Given the description of an element on the screen output the (x, y) to click on. 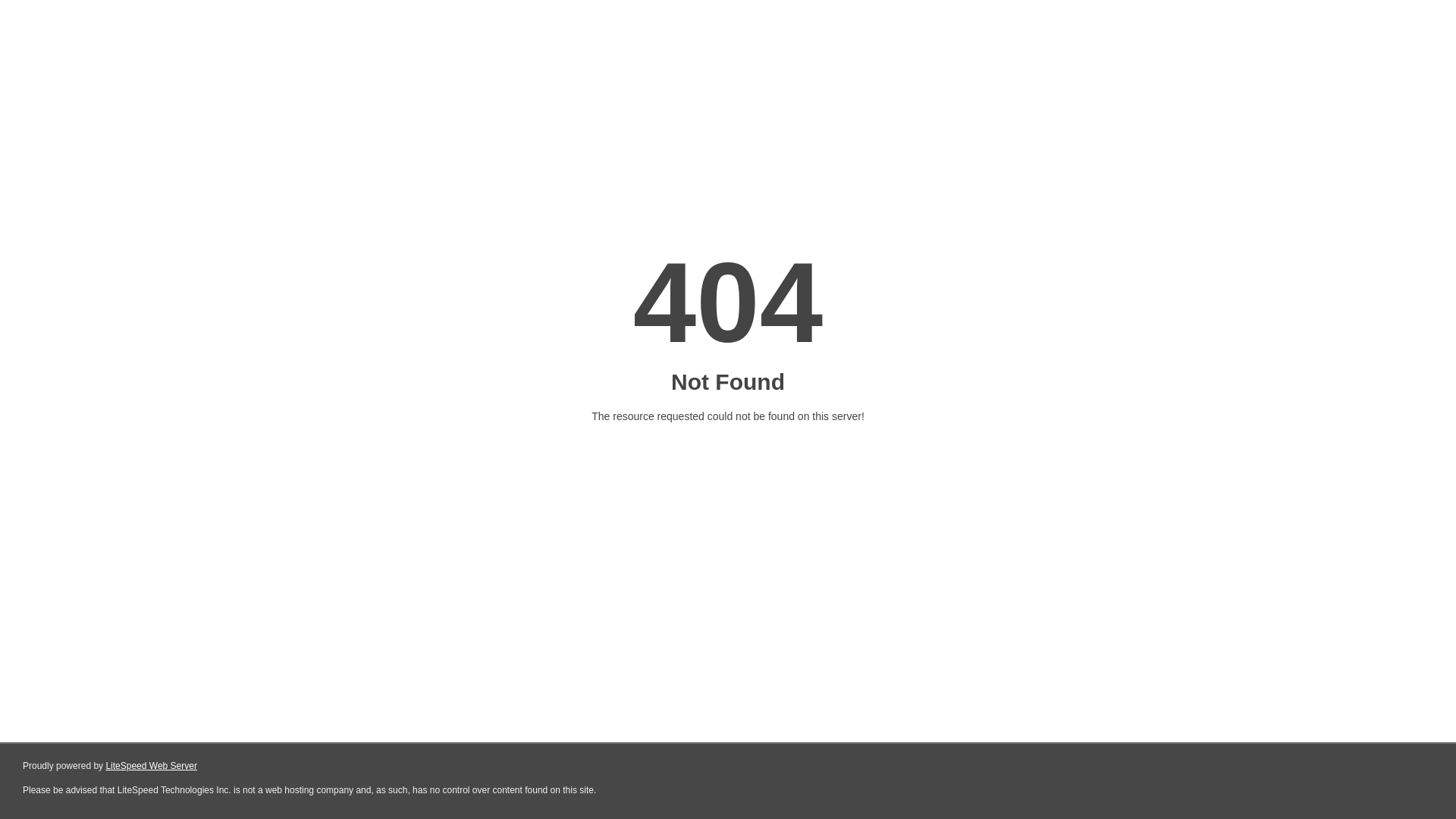
LiteSpeed Web Server Element type: text (151, 765)
